Given the description of an element on the screen output the (x, y) to click on. 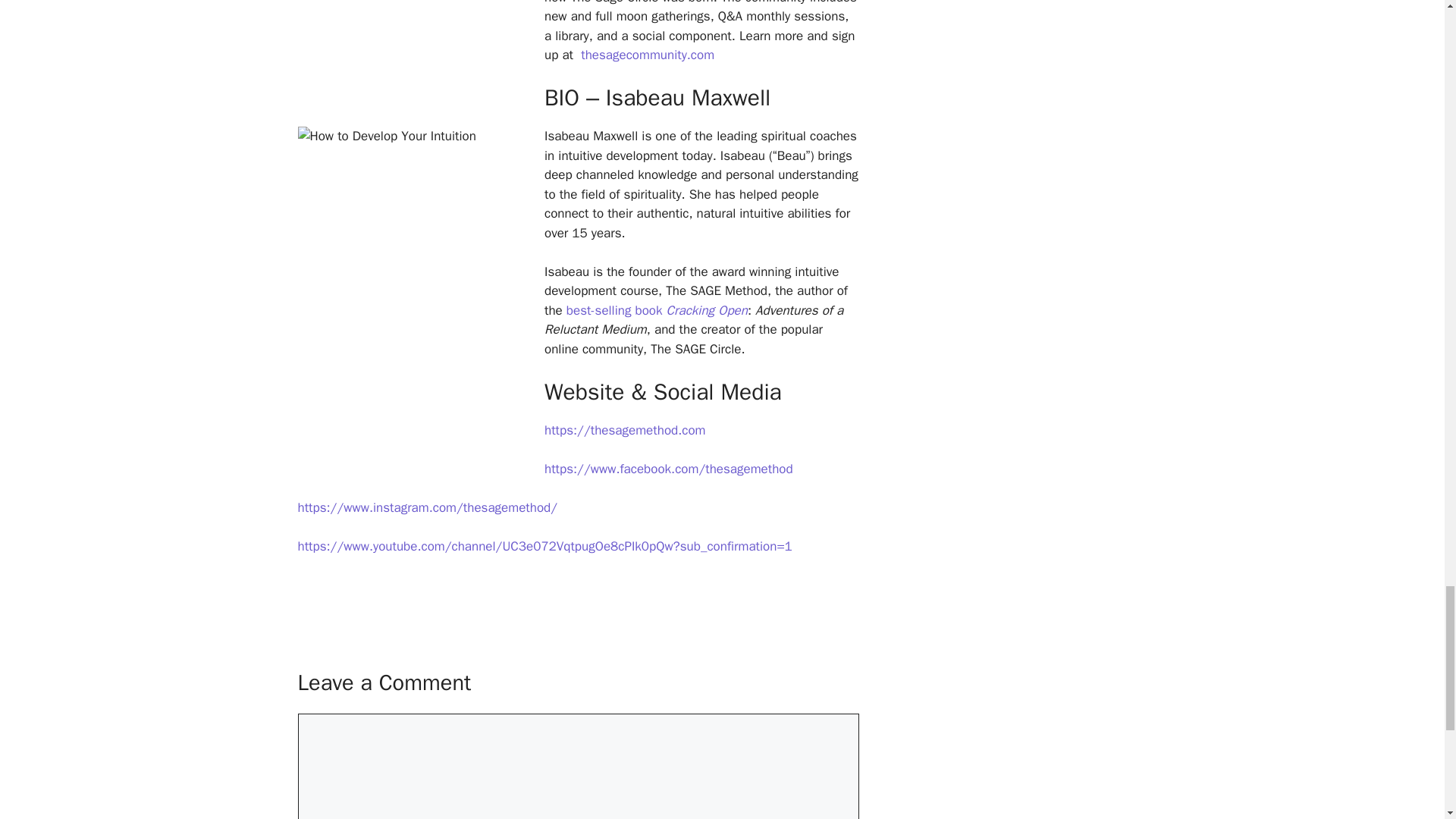
 thesagecommunity.com (645, 54)
best-selling book Cracking Open (657, 310)
